Given the description of an element on the screen output the (x, y) to click on. 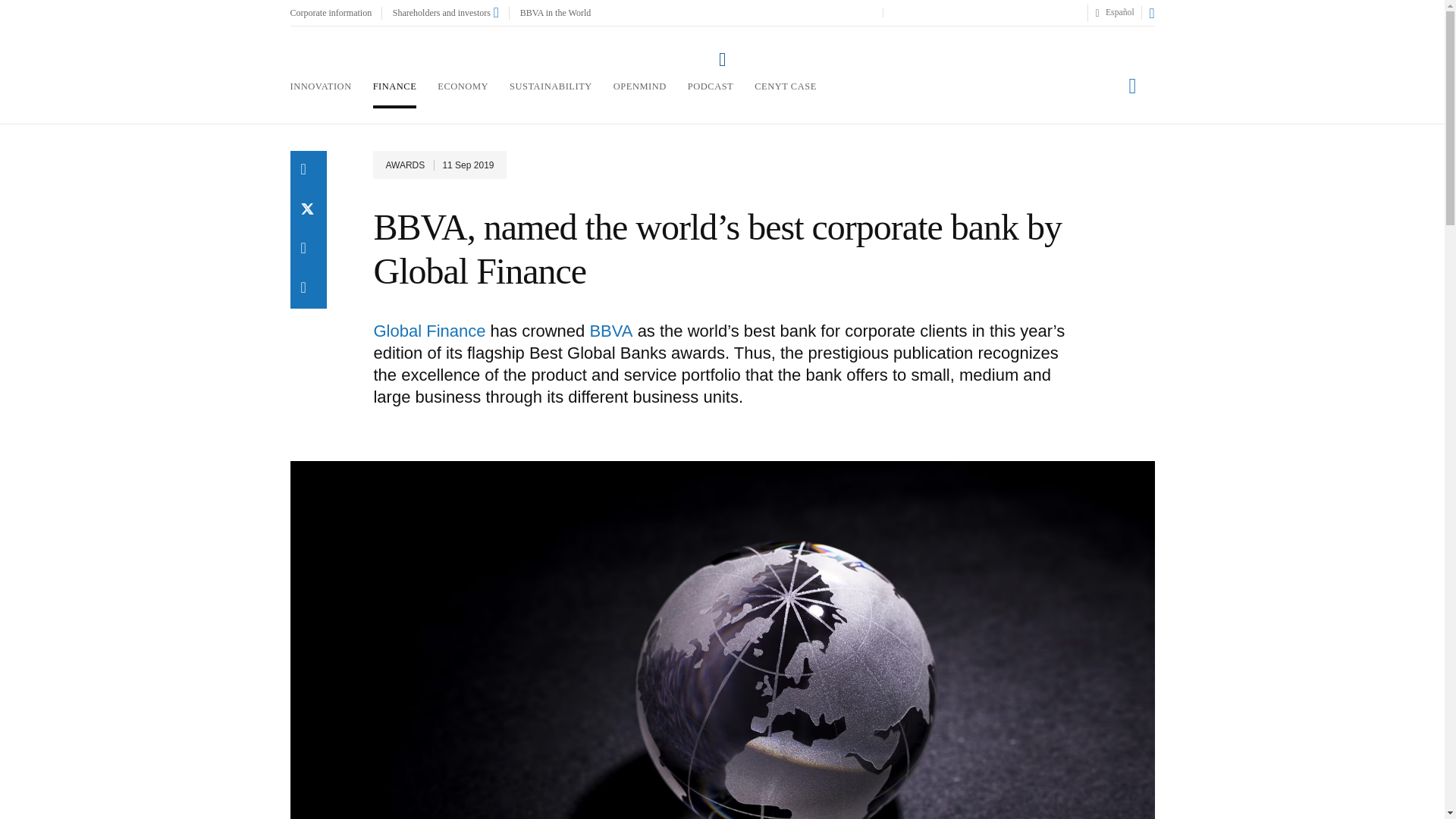
mercado (985, 12)
